Given the description of an element on the screen output the (x, y) to click on. 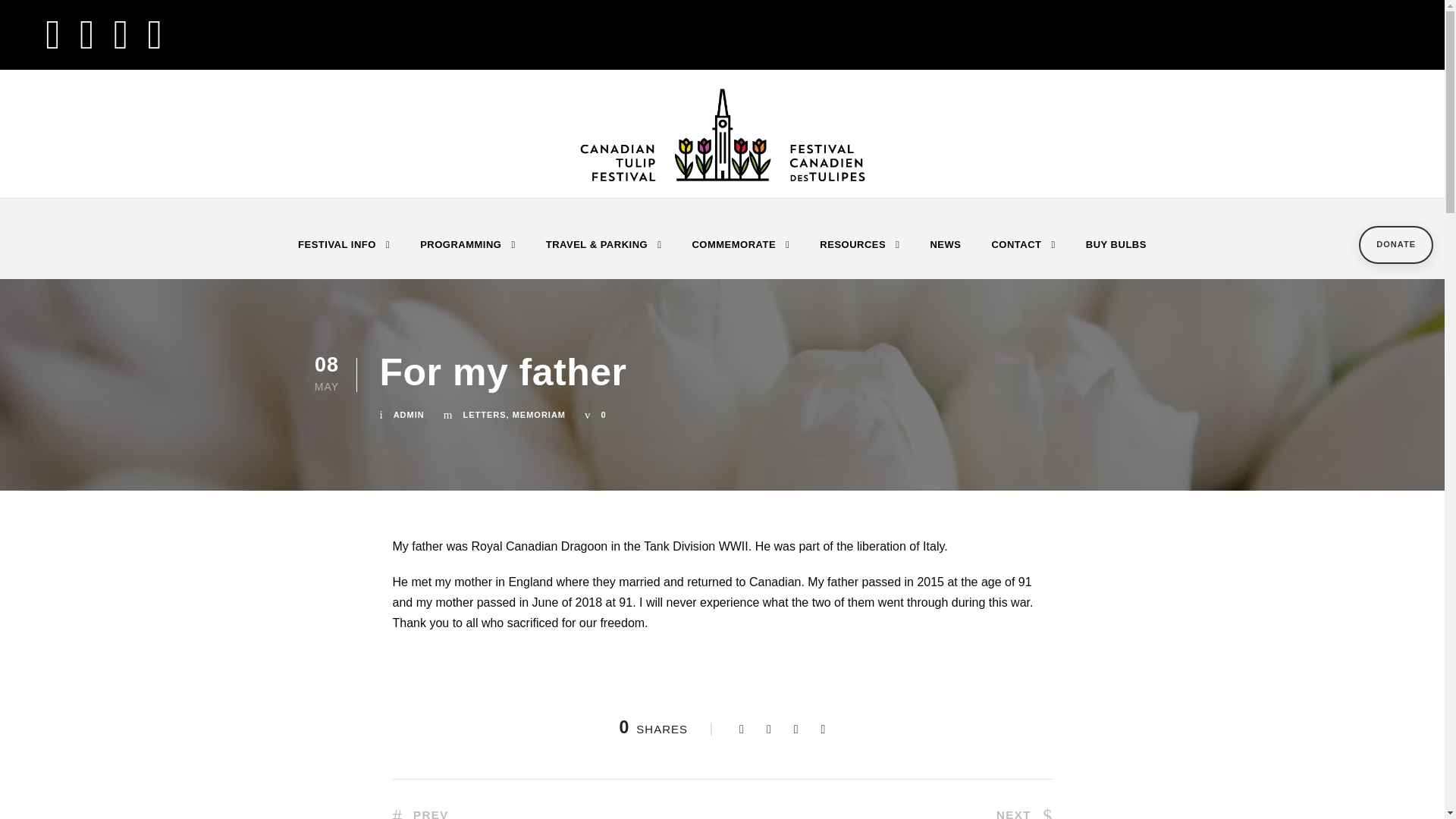
facebook (53, 33)
instagram (154, 33)
Posts by admin (409, 414)
youtube (120, 33)
CTF-Master-Logo-Horizontal-ED-700px (721, 133)
twitter (87, 33)
